Given the description of an element on the screen output the (x, y) to click on. 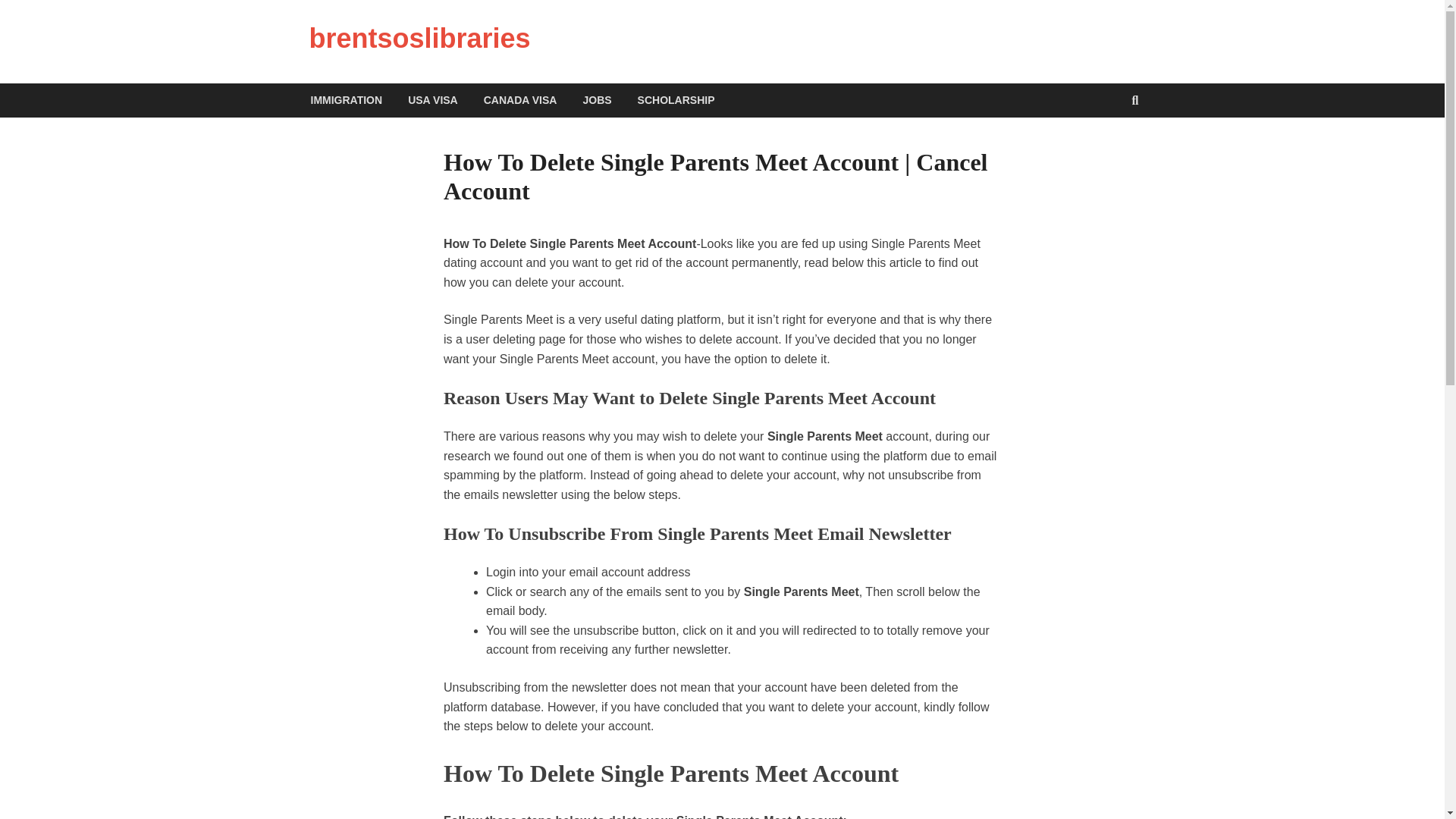
CANADA VISA (520, 100)
brentsoslibraries (419, 38)
SCHOLARSHIP (676, 100)
JOBS (596, 100)
IMMIGRATION (345, 100)
USA VISA (432, 100)
